Given the description of an element on the screen output the (x, y) to click on. 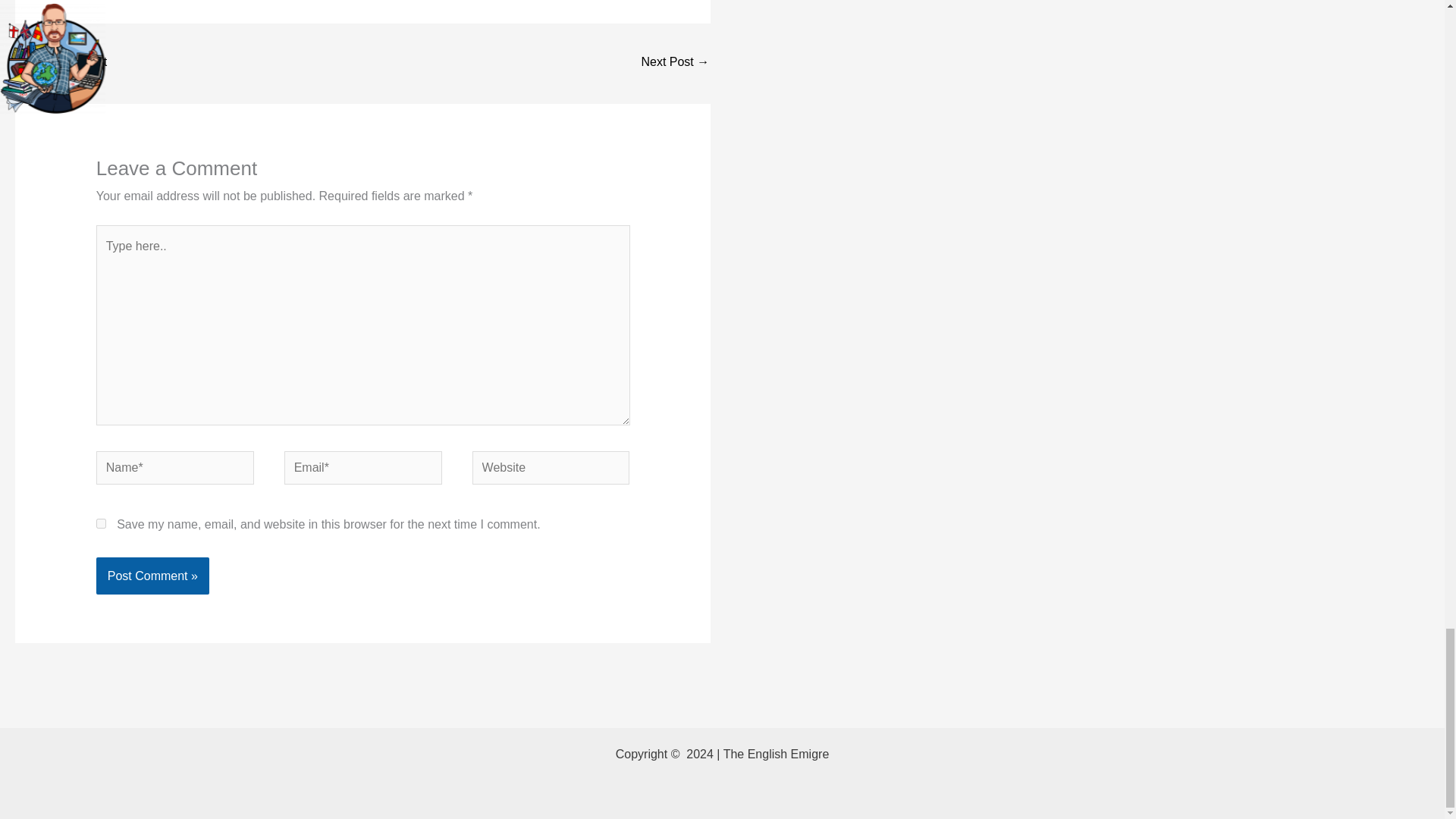
yes (101, 523)
